Given the description of an element on the screen output the (x, y) to click on. 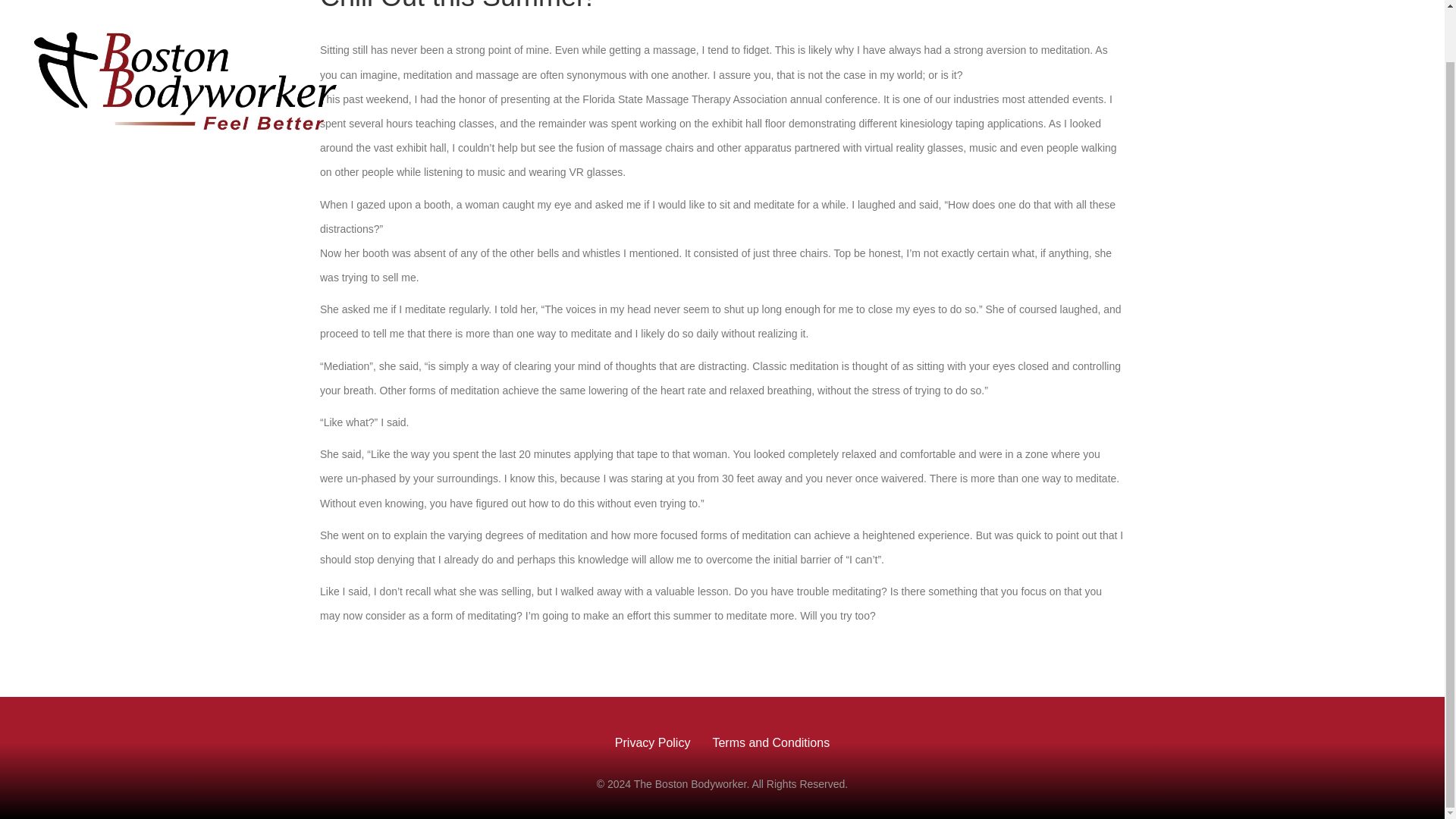
uncroppedBBW-logo-white-outline-1-768x263 (184, 78)
Privacy Policy (652, 742)
Terms and Conditions (770, 742)
